Given the description of an element on the screen output the (x, y) to click on. 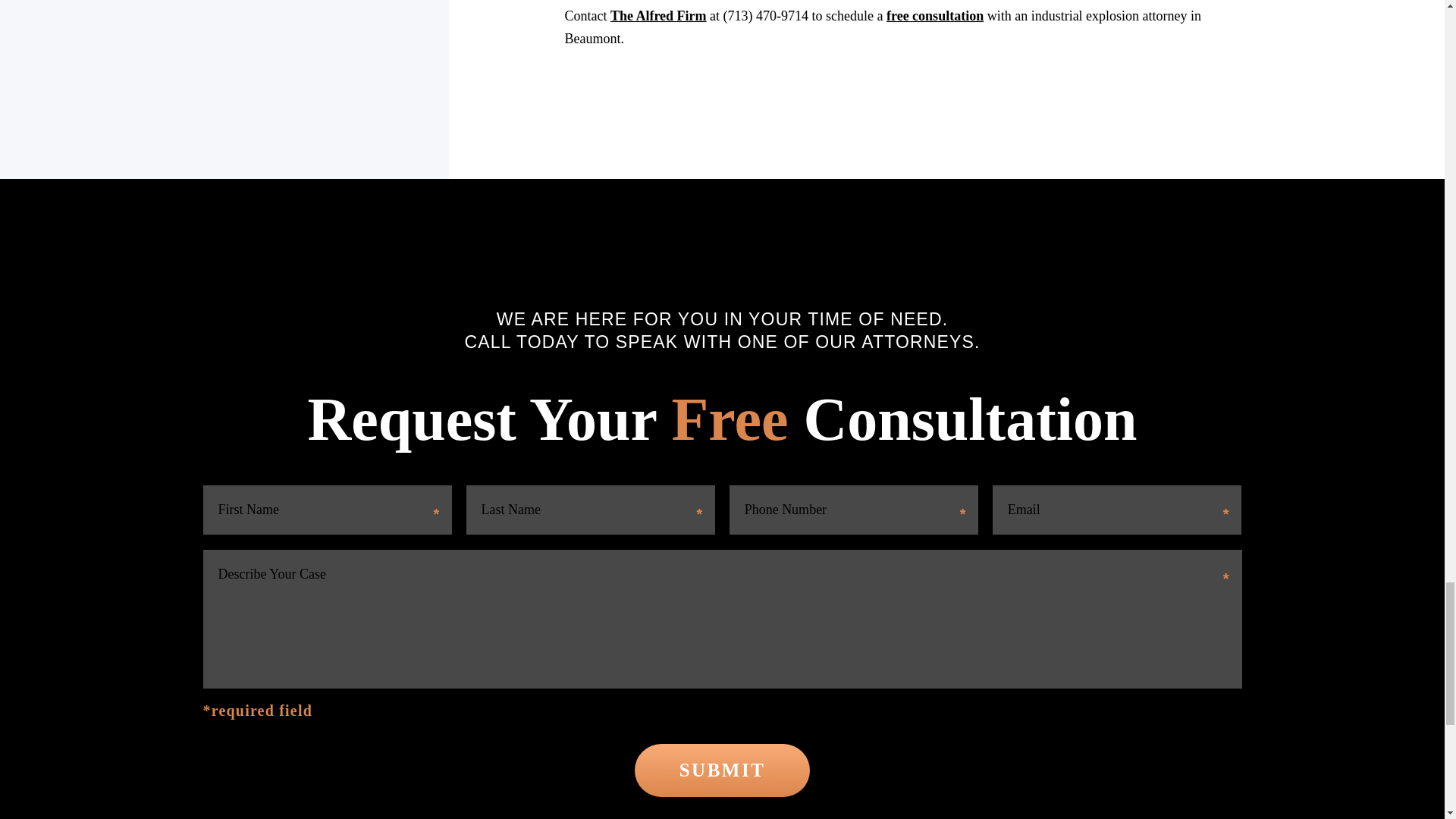
Submit (722, 770)
free consultation (935, 15)
Submit (722, 770)
The Alfred Firm (658, 15)
